Given the description of an element on the screen output the (x, y) to click on. 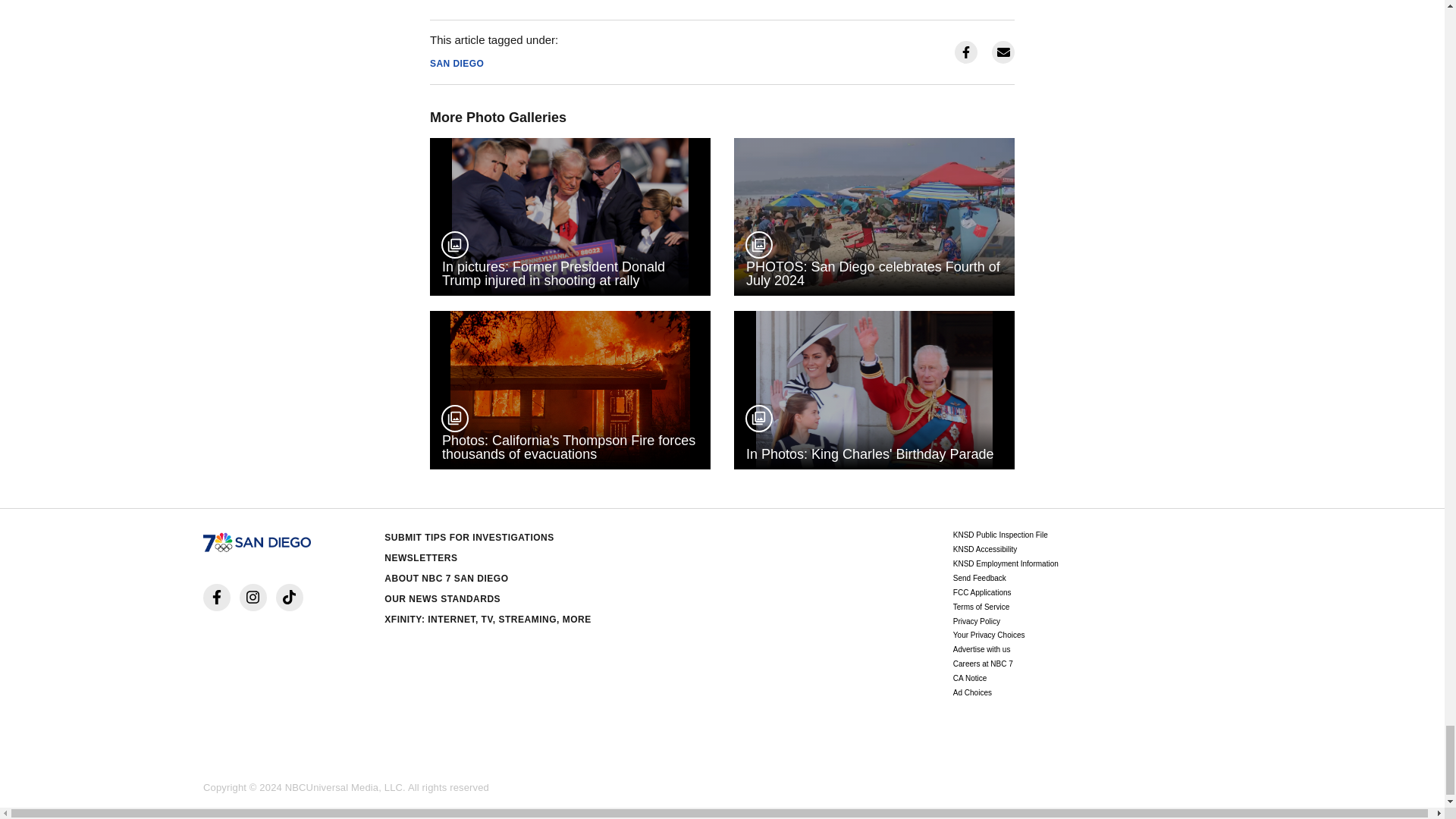
SAN DIEGO (456, 62)
Facebook (216, 596)
